Given the description of an element on the screen output the (x, y) to click on. 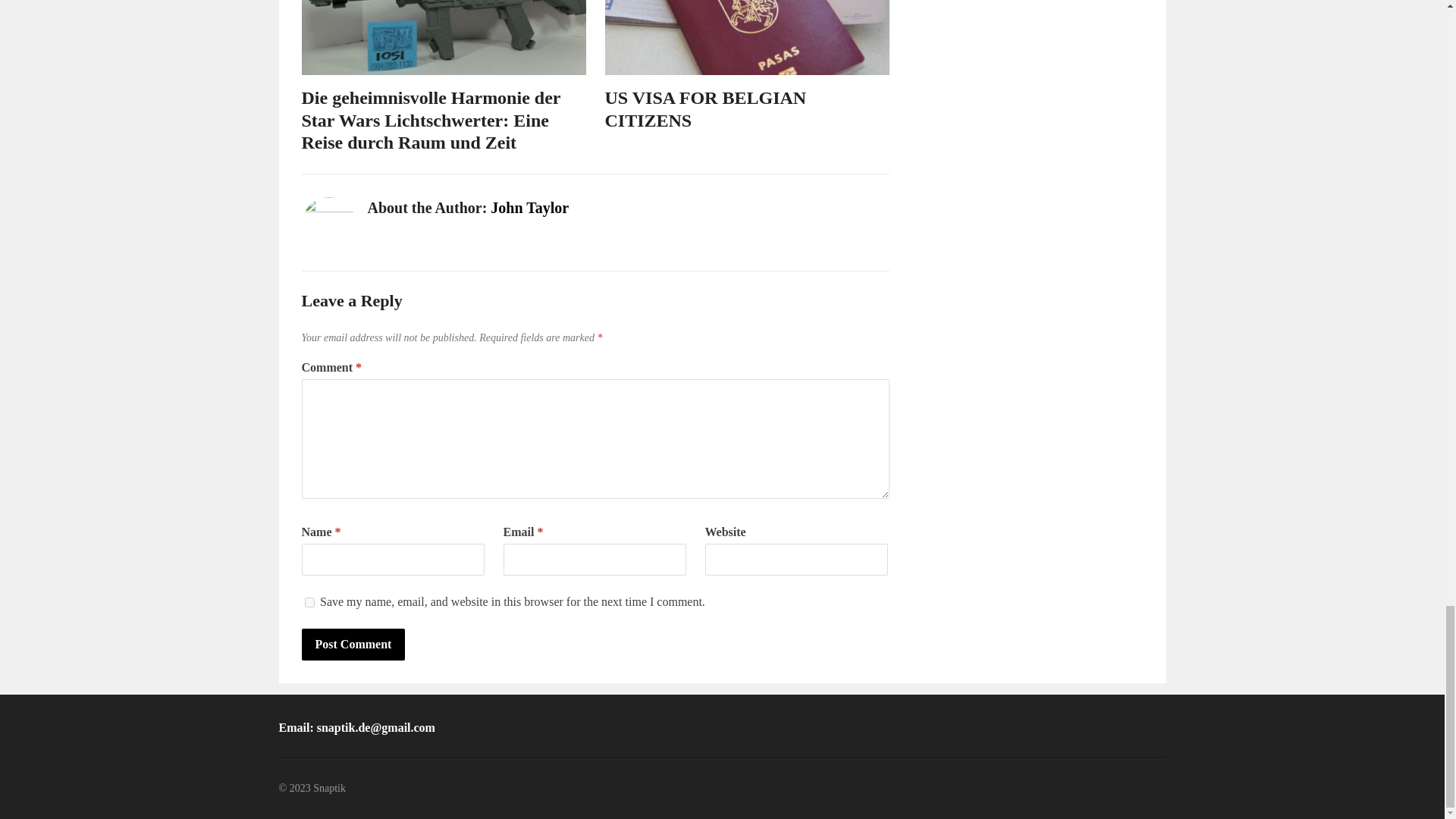
US VISA FOR BELGIAN CITIZENS (705, 108)
Post Comment (353, 644)
John Taylor (529, 207)
yes (309, 602)
